Given the description of an element on the screen output the (x, y) to click on. 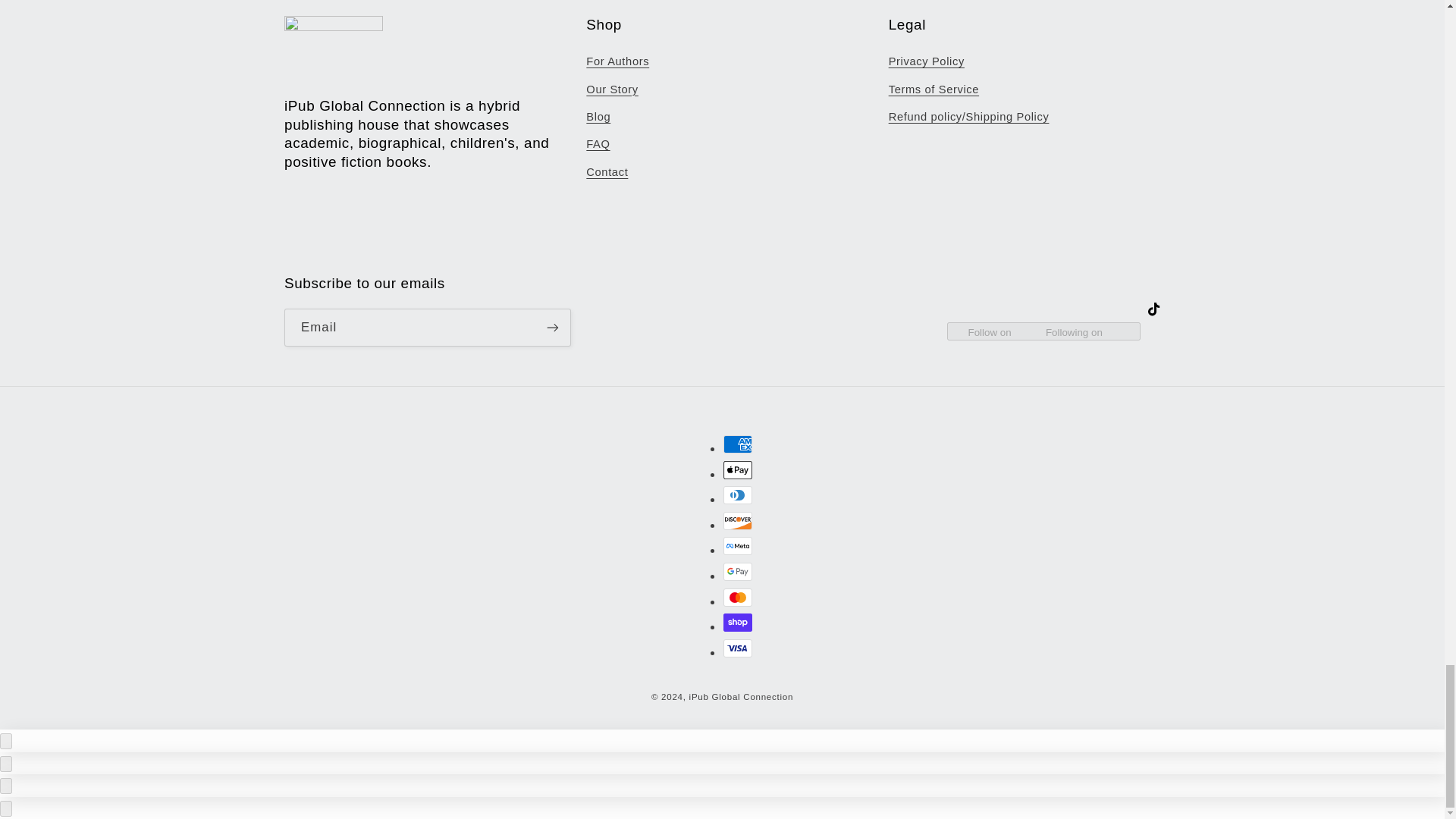
American Express (737, 443)
Diners Club (737, 495)
Apple Pay (737, 470)
